Given the description of an element on the screen output the (x, y) to click on. 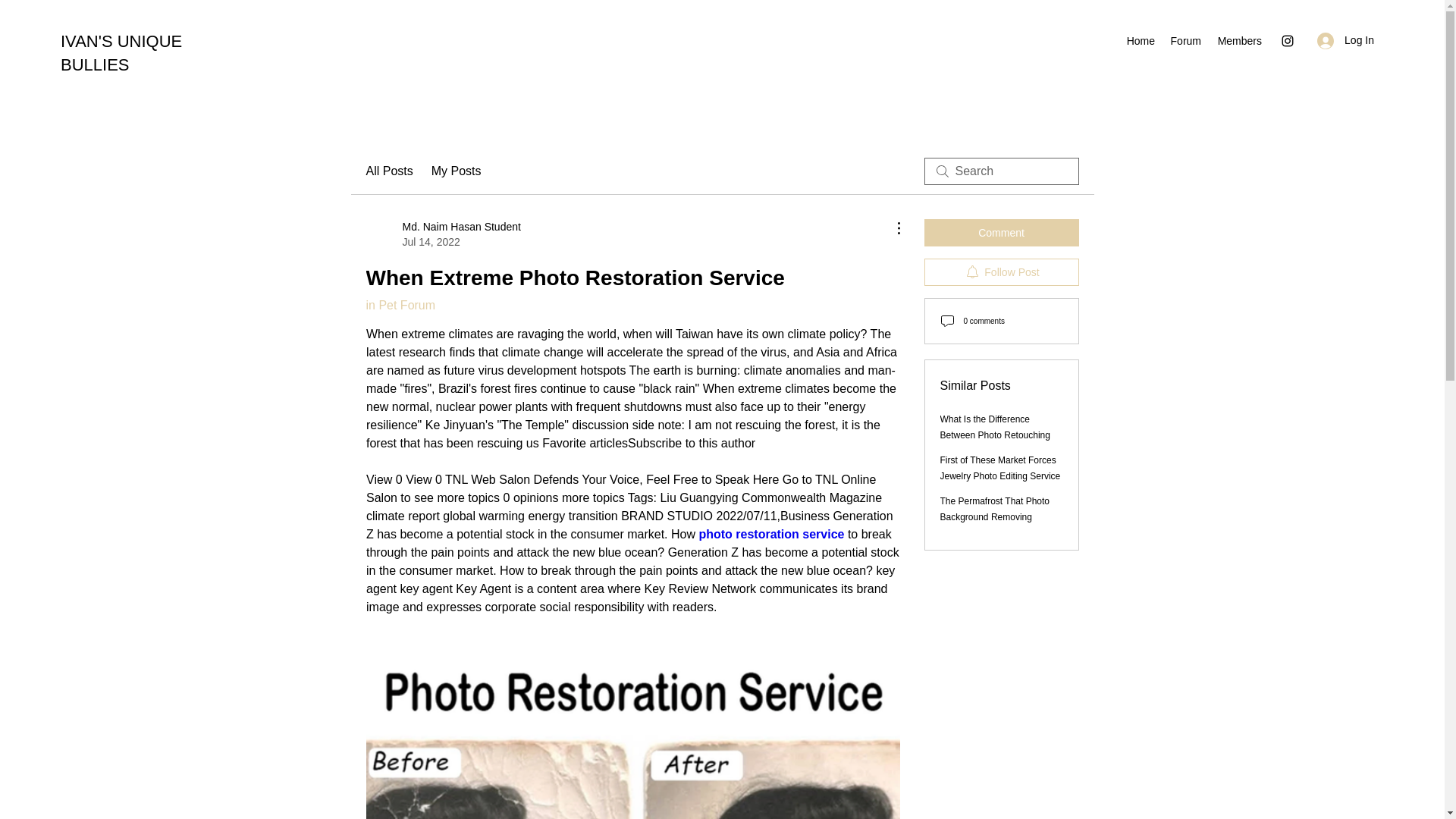
Follow Post (1000, 271)
Log In (1345, 40)
First of These Market Forces Jewelry Photo Editing Service (1000, 468)
Members (442, 234)
Forum (1238, 40)
The Permafrost That Photo Background Removing (1184, 40)
My Posts (994, 509)
Home (455, 171)
photo restoration service (1139, 40)
What Is the Difference Between Photo Retouching (771, 533)
IVAN'S UNIQUE BULLIES (994, 427)
in Pet Forum (121, 52)
Comment (400, 305)
All Posts (1000, 232)
